Given the description of an element on the screen output the (x, y) to click on. 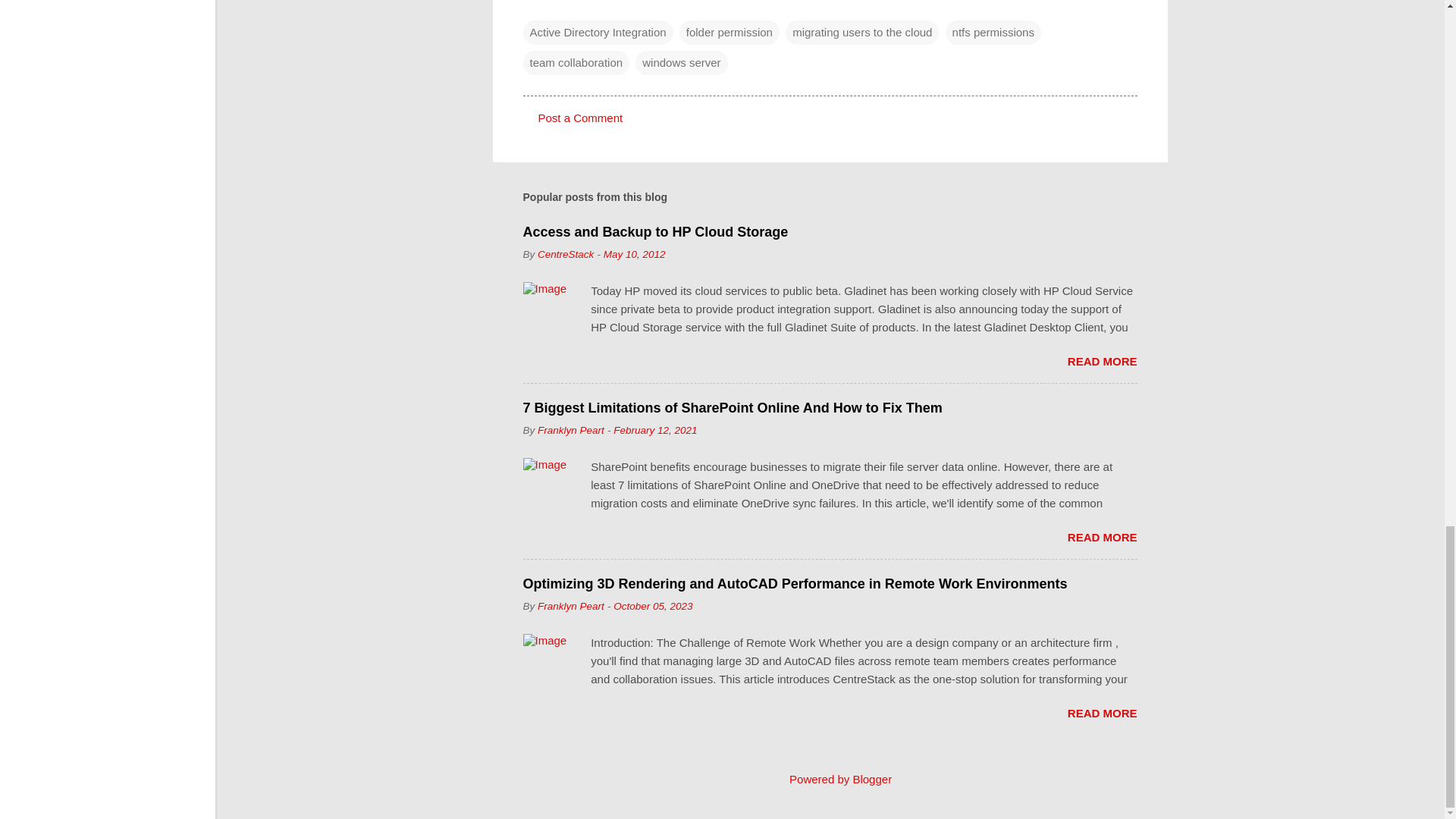
October 05, 2023 (652, 605)
Access and Backup to HP Cloud Storage (655, 231)
CentreStack (565, 254)
windows server (680, 61)
READ MORE (1102, 360)
Email Post (531, 4)
folder permission (728, 31)
Powered by Blogger (829, 779)
team collaboration (576, 61)
